Given the description of an element on the screen output the (x, y) to click on. 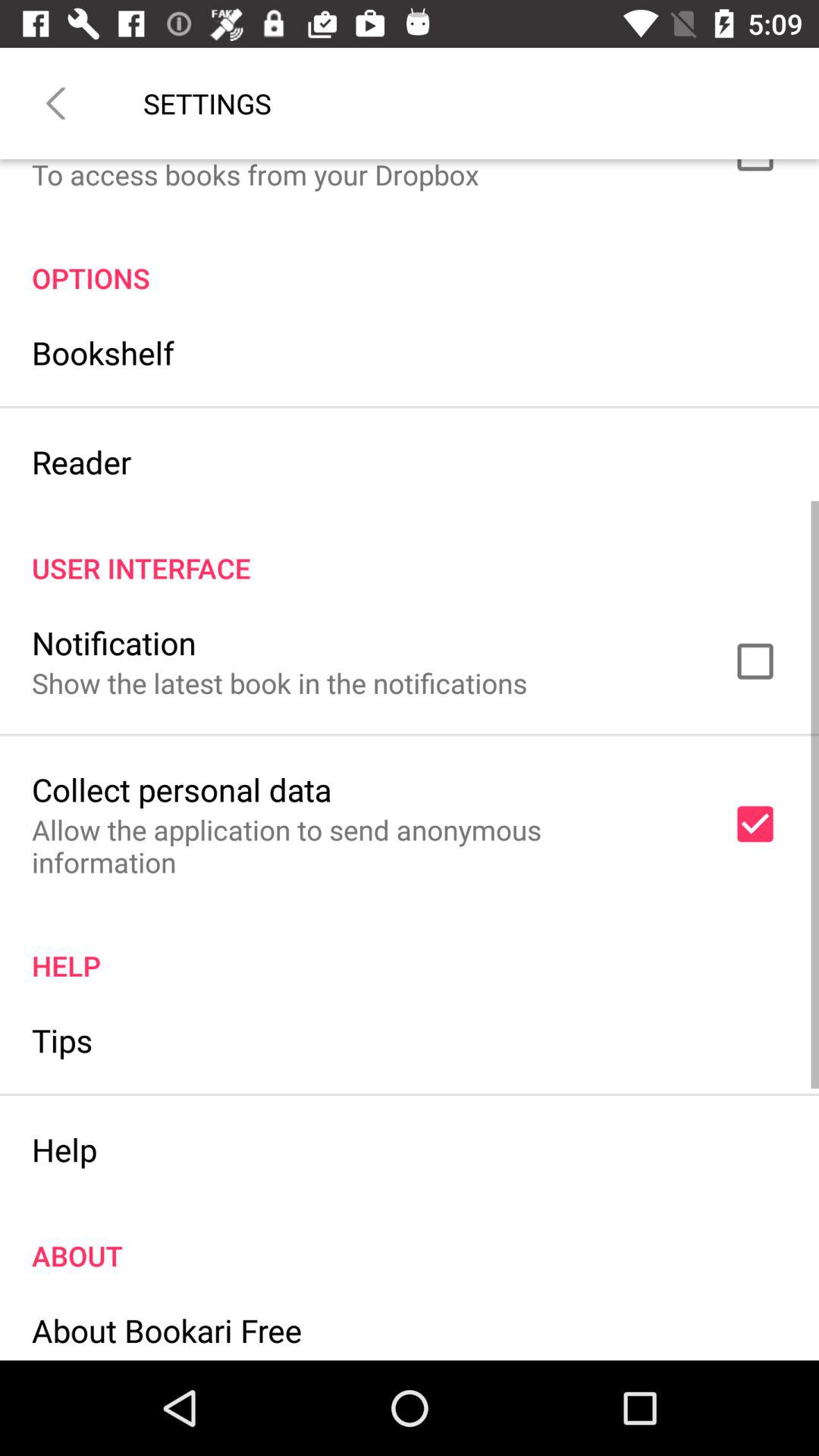
tap icon above to access books (55, 103)
